Given the description of an element on the screen output the (x, y) to click on. 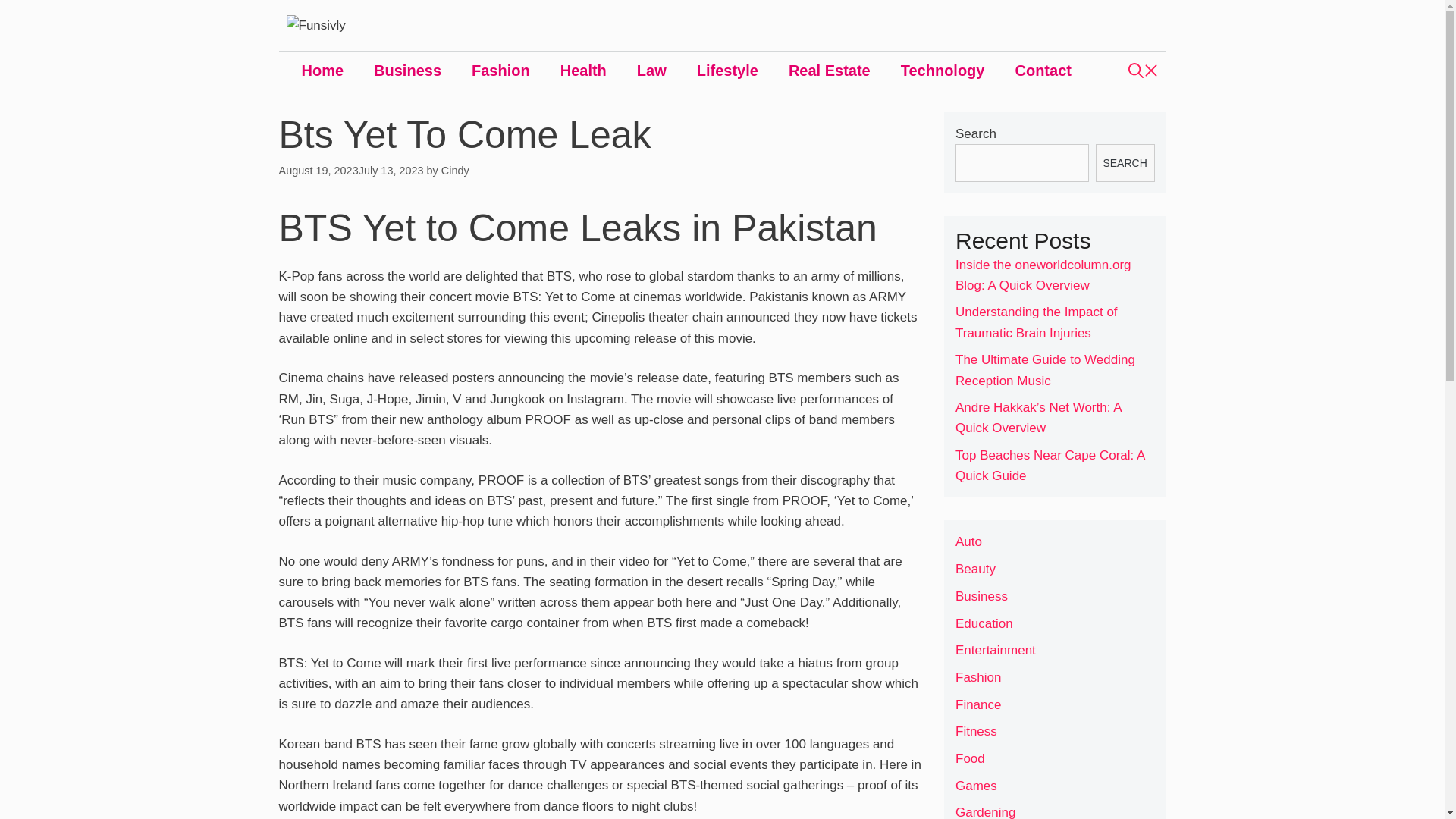
The Ultimate Guide to Wedding Reception Music (1045, 369)
Entertainment (995, 649)
Gardening (984, 812)
Food (970, 758)
View all posts by Cindy (454, 170)
Fashion (500, 70)
Technology (942, 70)
Inside the oneworldcolumn.org Blog: A Quick Overview (1043, 274)
Beauty (975, 568)
Contact (1042, 70)
